Given the description of an element on the screen output the (x, y) to click on. 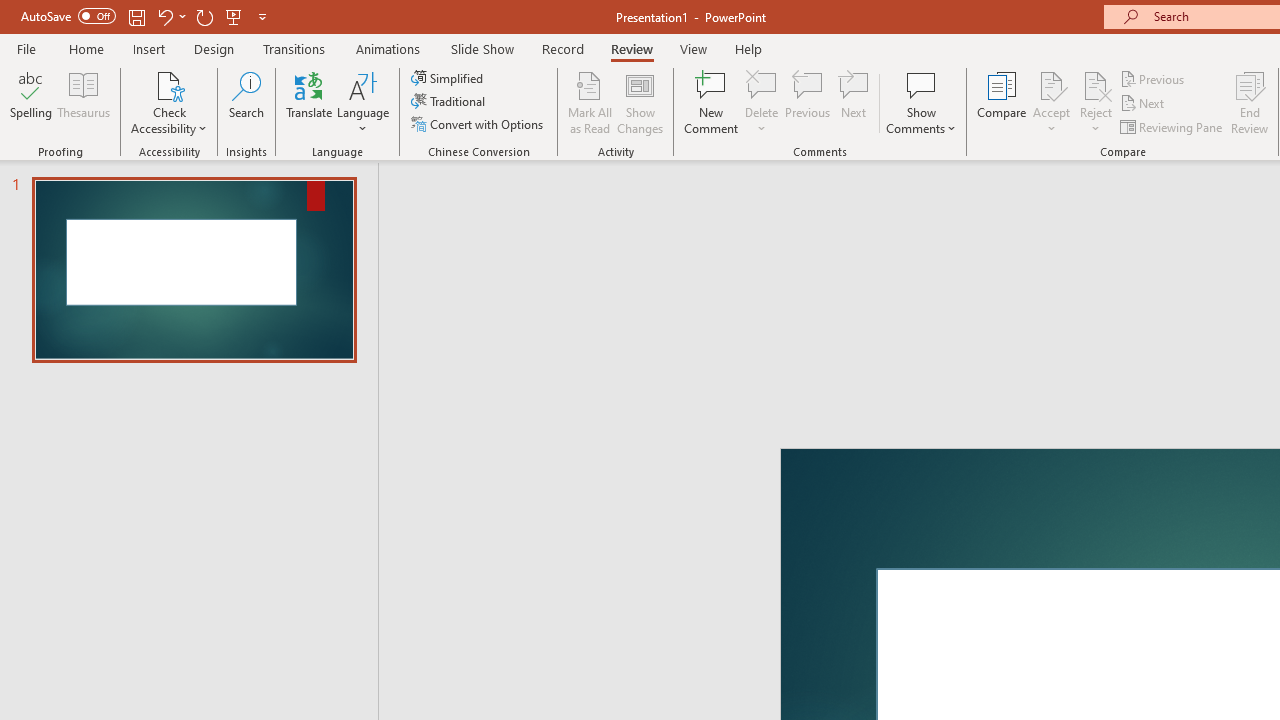
Compare (1002, 102)
Reviewing Pane (1172, 126)
End Review (1249, 102)
